Given the description of an element on the screen output the (x, y) to click on. 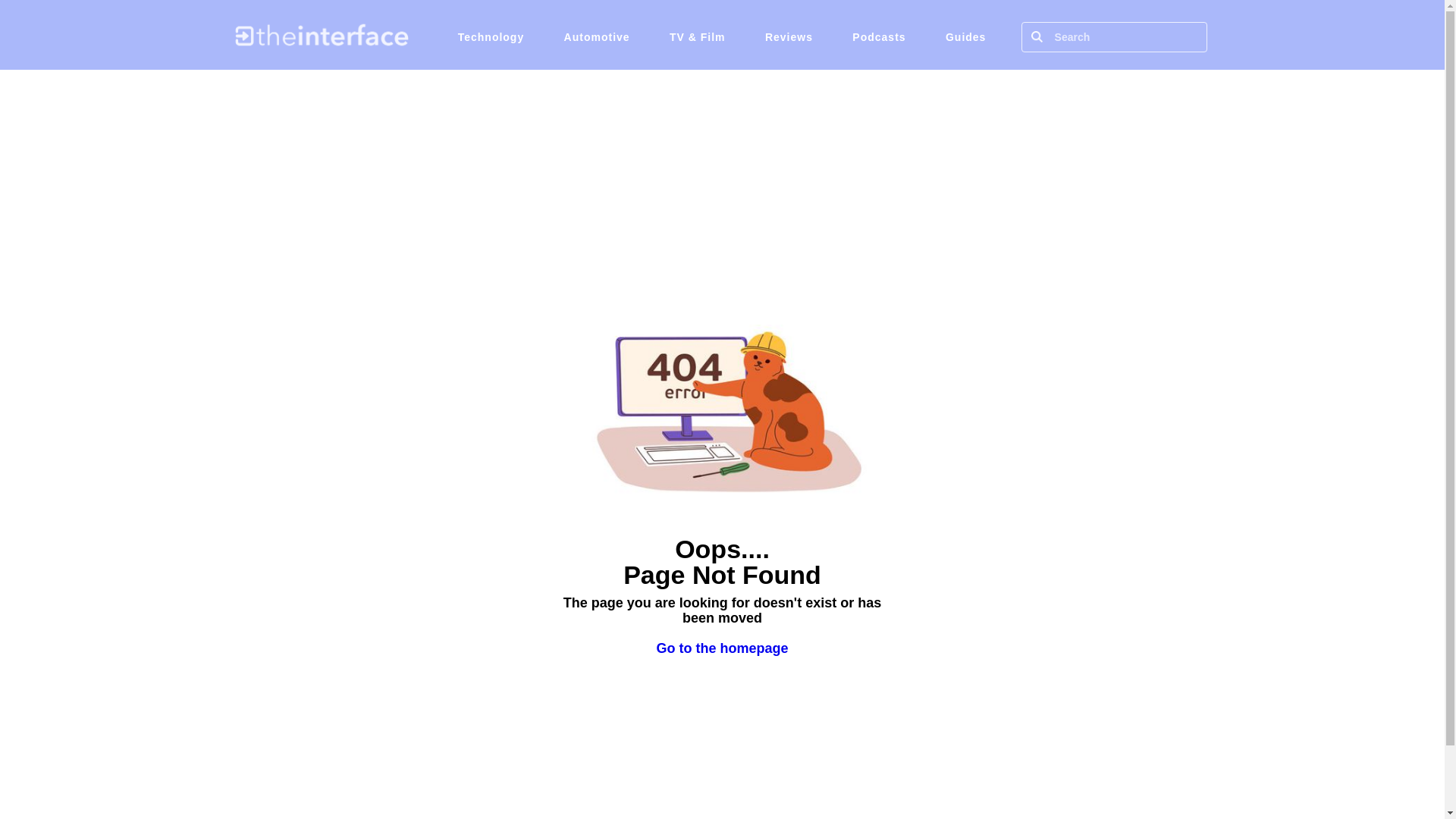
Reviews (788, 37)
Technology (491, 37)
Podcasts (878, 37)
Automotive (596, 37)
Go to the homepage (721, 648)
Guides (965, 37)
